Given the description of an element on the screen output the (x, y) to click on. 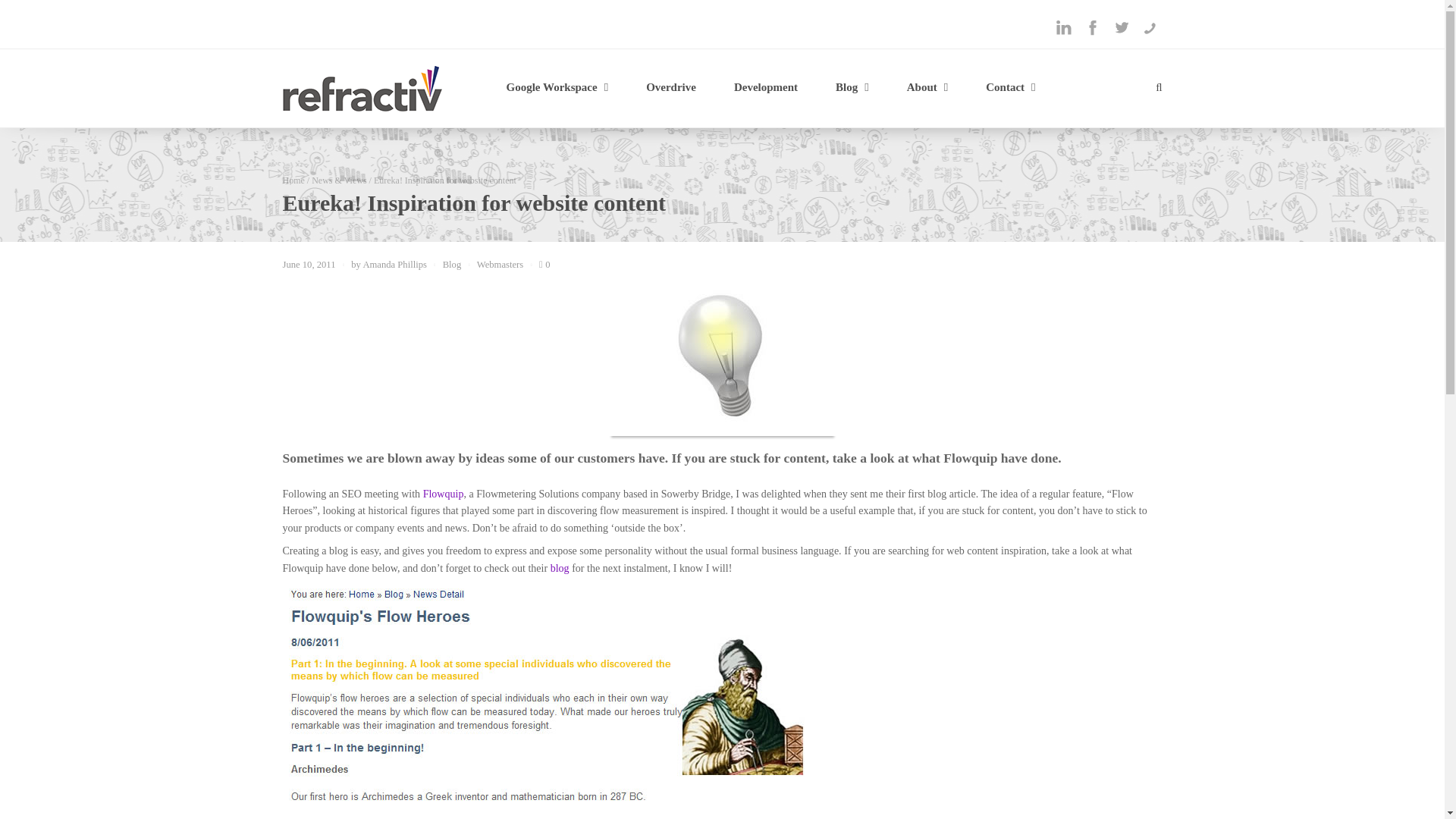
Development (765, 88)
Twitter (1120, 27)
LinkedIn (1063, 27)
Google Workspace (556, 88)
About (928, 88)
Overdrive (670, 88)
Facebook (1091, 27)
Yahoo (1149, 27)
Posts by Amanda Phillips (394, 264)
Blog (852, 88)
Contact (1010, 88)
